Given the description of an element on the screen output the (x, y) to click on. 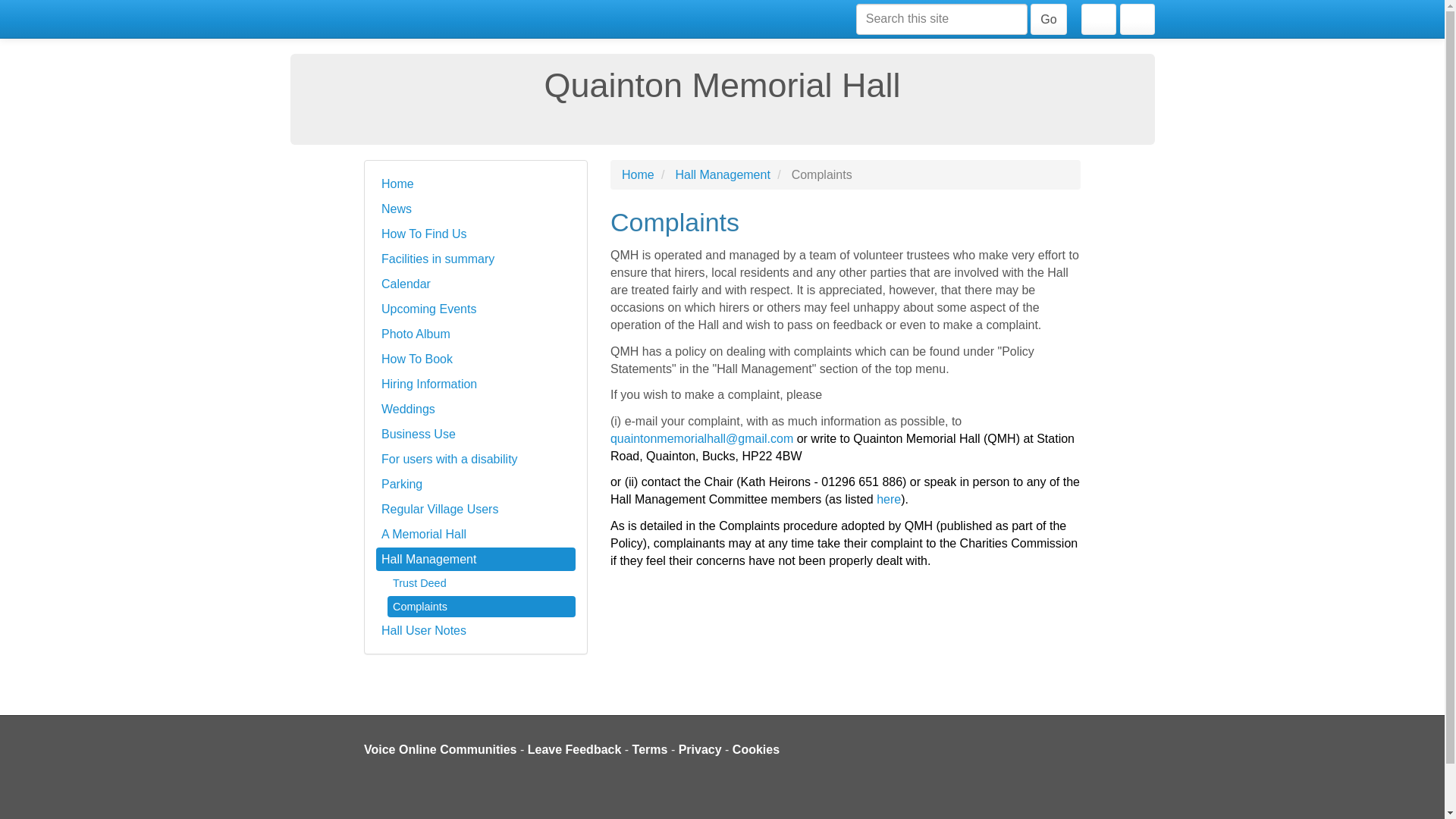
Charities Commission website QMH (888, 499)
Home (475, 183)
Go (1047, 18)
